Given the description of an element on the screen output the (x, y) to click on. 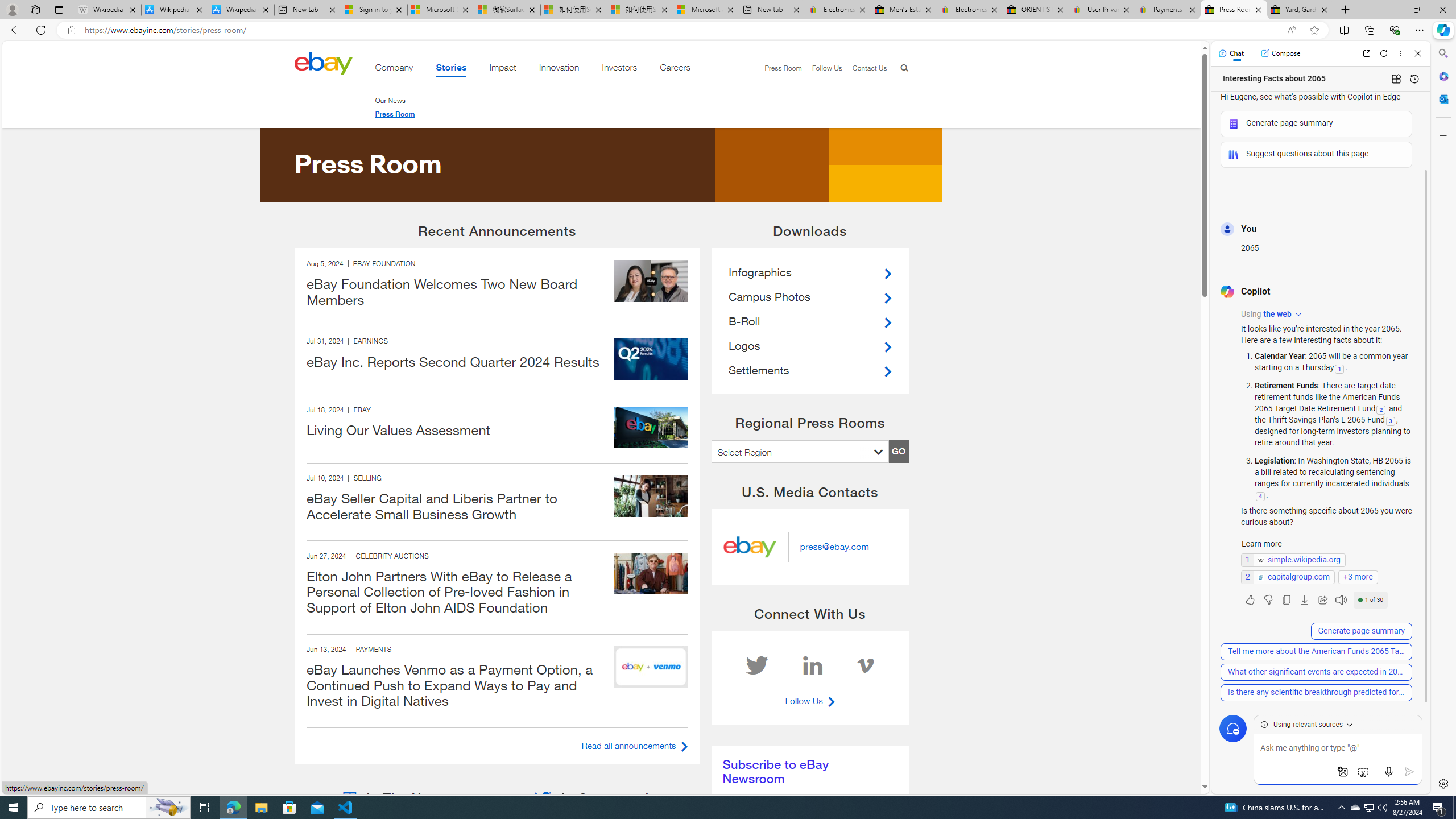
Follow Us (821, 68)
969302575 (650, 573)
240612 eBay inc hero (650, 666)
GO (898, 450)
1365520856 (650, 495)
Press Room (394, 113)
